Given the description of an element on the screen output the (x, y) to click on. 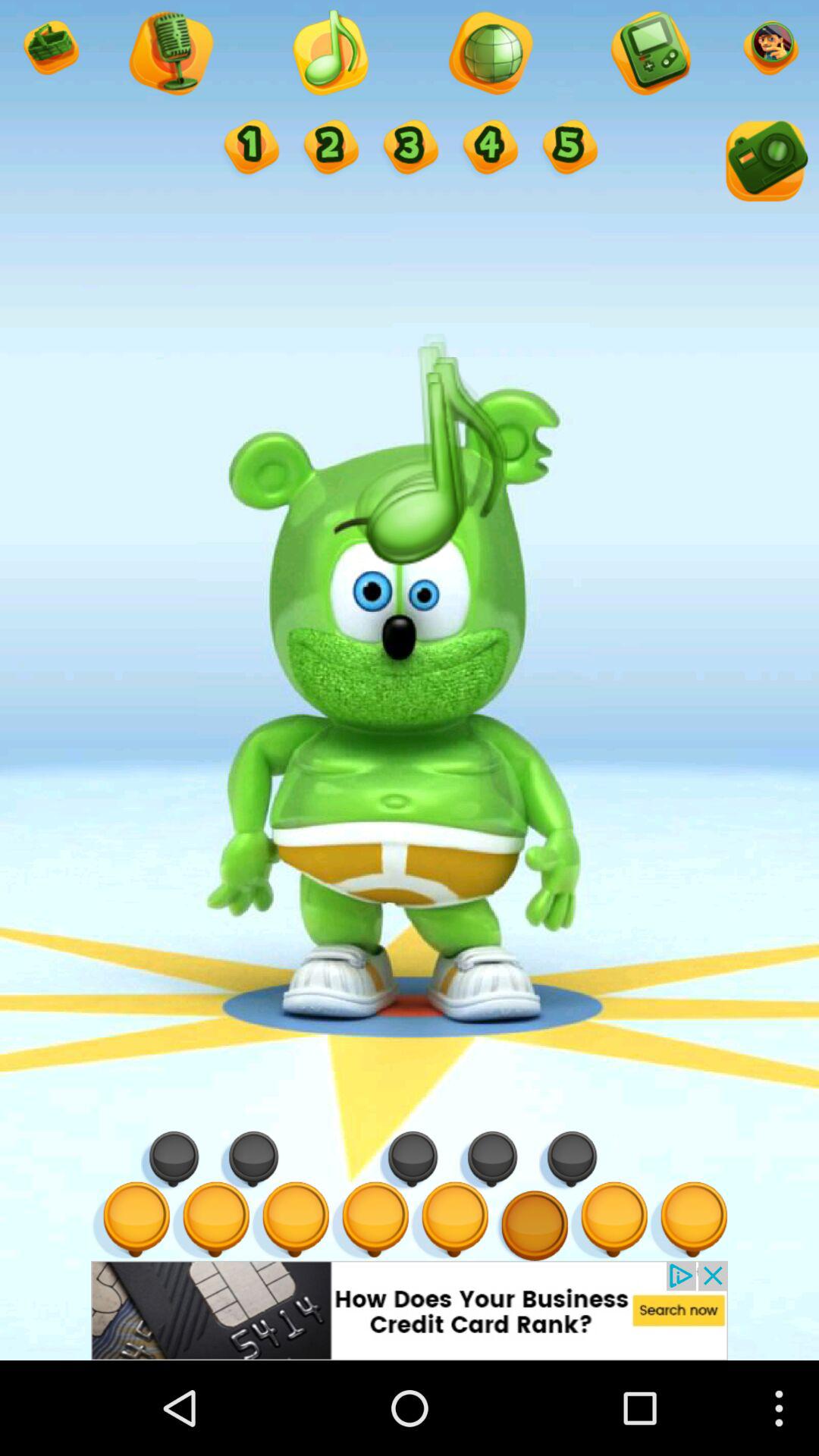
play game (649, 55)
